Given the description of an element on the screen output the (x, y) to click on. 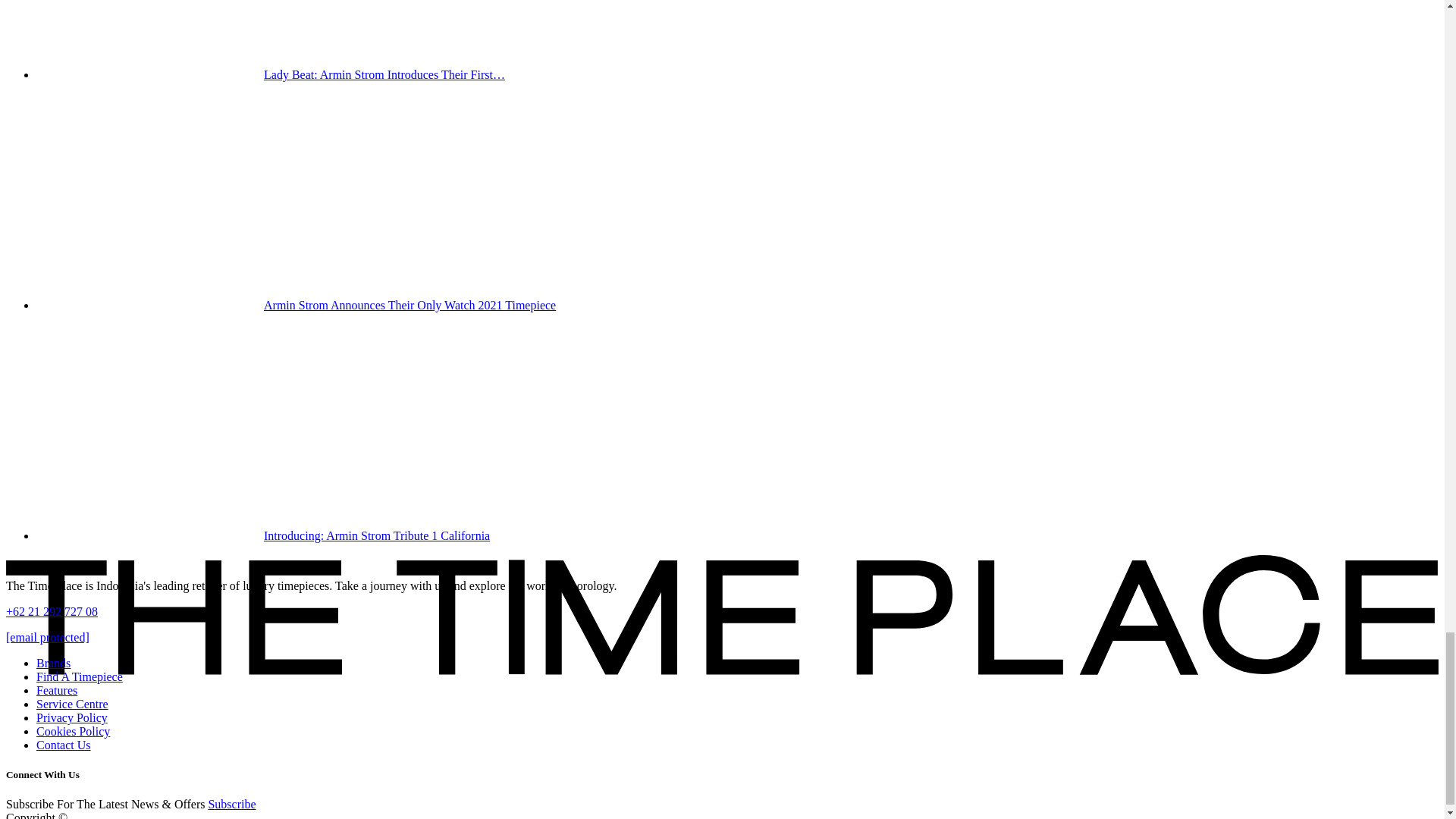
Armin Strom Announces Their Only Watch 2021 Timepiece (149, 195)
Introducing: Armin Strom Tribute 1 California (149, 425)
Subscribe (232, 803)
